Given the description of an element on the screen output the (x, y) to click on. 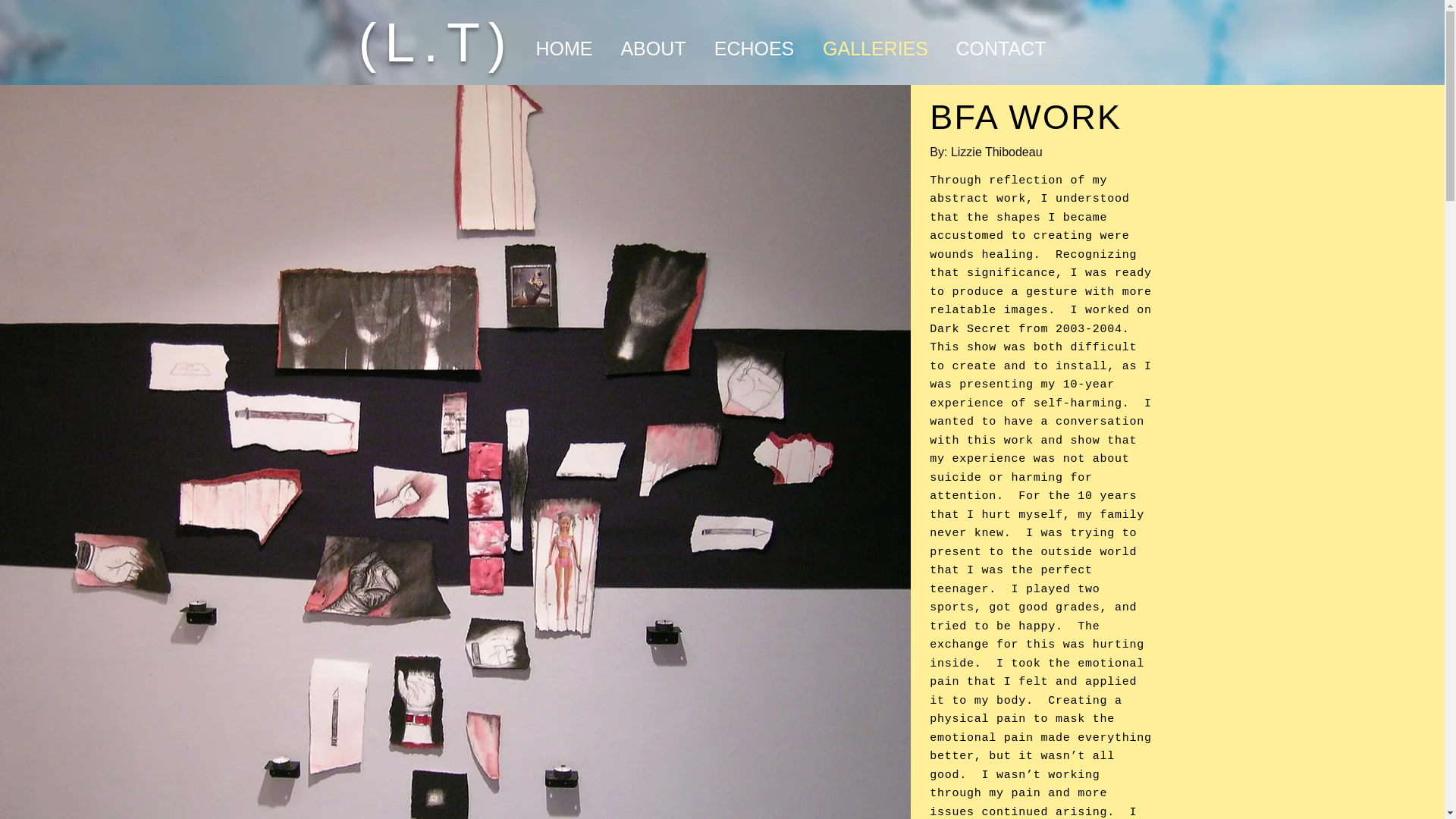
ECHOES (754, 48)
CONTACT (1001, 48)
HOME (563, 48)
ABOUT (653, 48)
GALLERIES (875, 48)
